Given the description of an element on the screen output the (x, y) to click on. 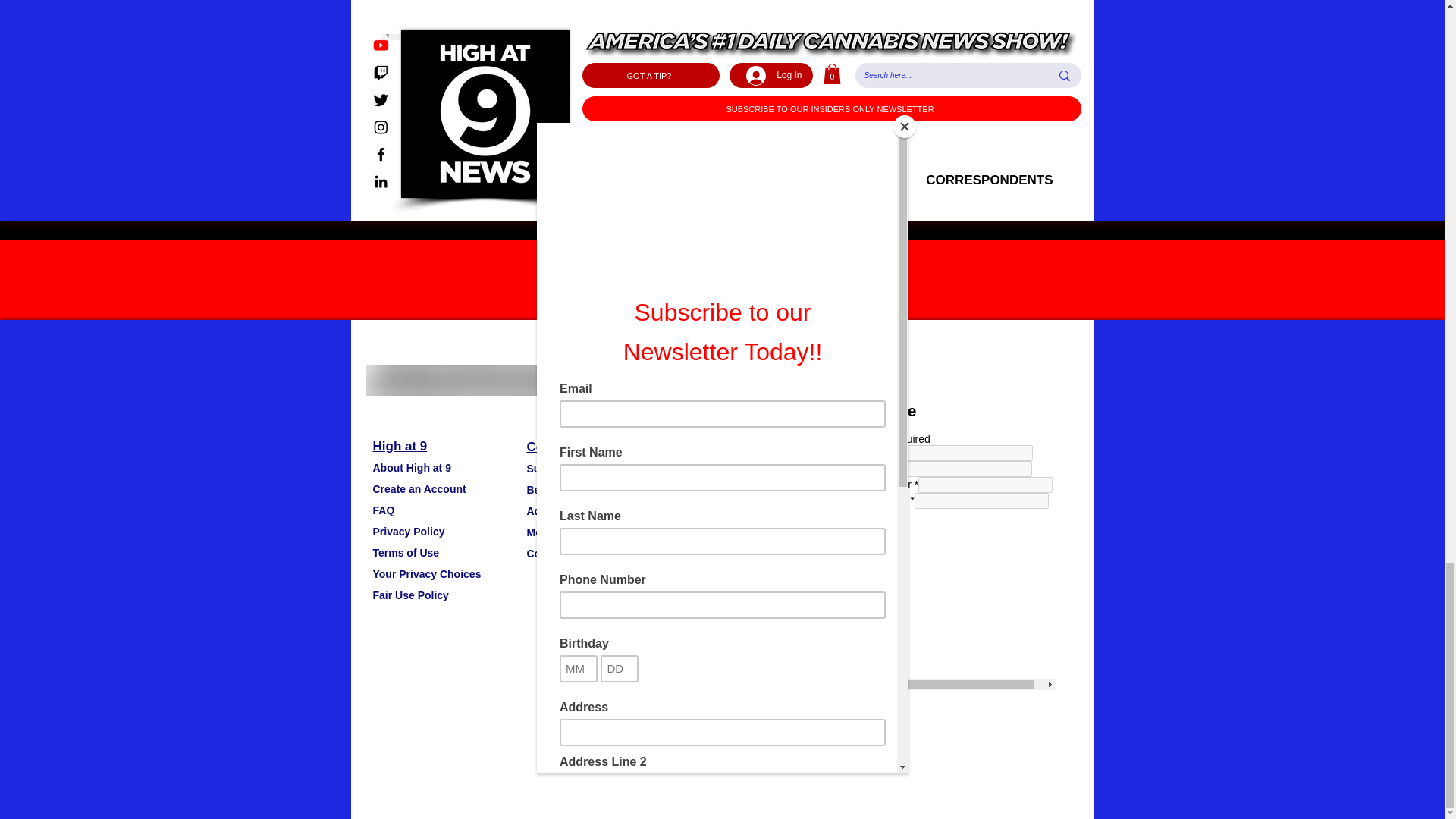
Embedded Content (943, 542)
